Given the description of an element on the screen output the (x, y) to click on. 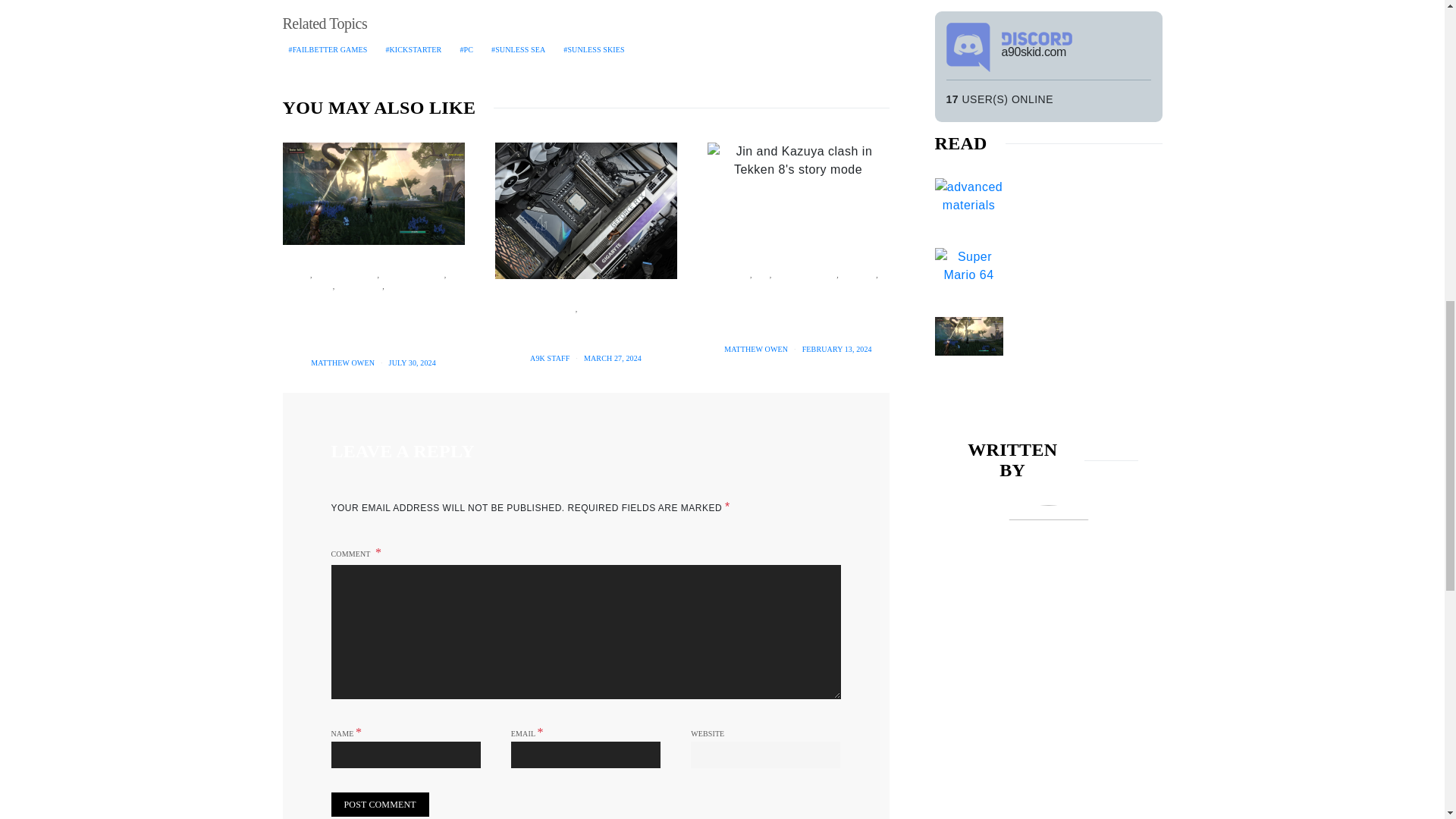
FAILBETTER GAMES (327, 49)
View all posts by Matthew Owen (342, 362)
MATTHEW OWEN (342, 362)
JULY 30, 2024 (411, 362)
View all posts by Matthew Owen (755, 348)
PC (303, 275)
A9K STAFF (549, 357)
KICKSTARTER (412, 49)
PLAYSTATION 5 (415, 275)
MARCH 27, 2024 (612, 357)
